Given the description of an element on the screen output the (x, y) to click on. 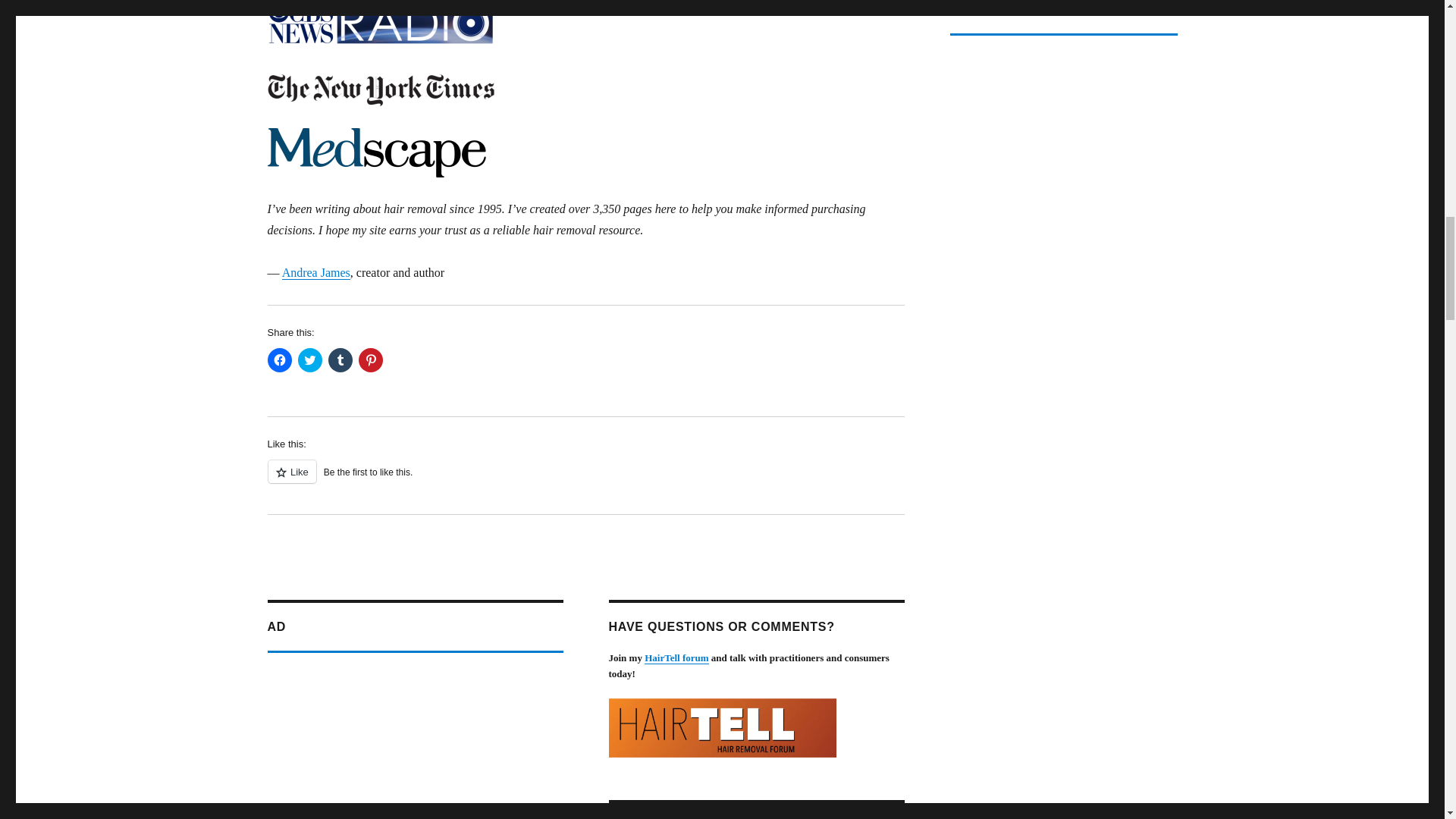
Like or Reblog (585, 480)
Click to share on Facebook (278, 360)
Click to share on Tumblr (339, 360)
Click to share on Pinterest (369, 360)
Click to share on Twitter (309, 360)
